Given the description of an element on the screen output the (x, y) to click on. 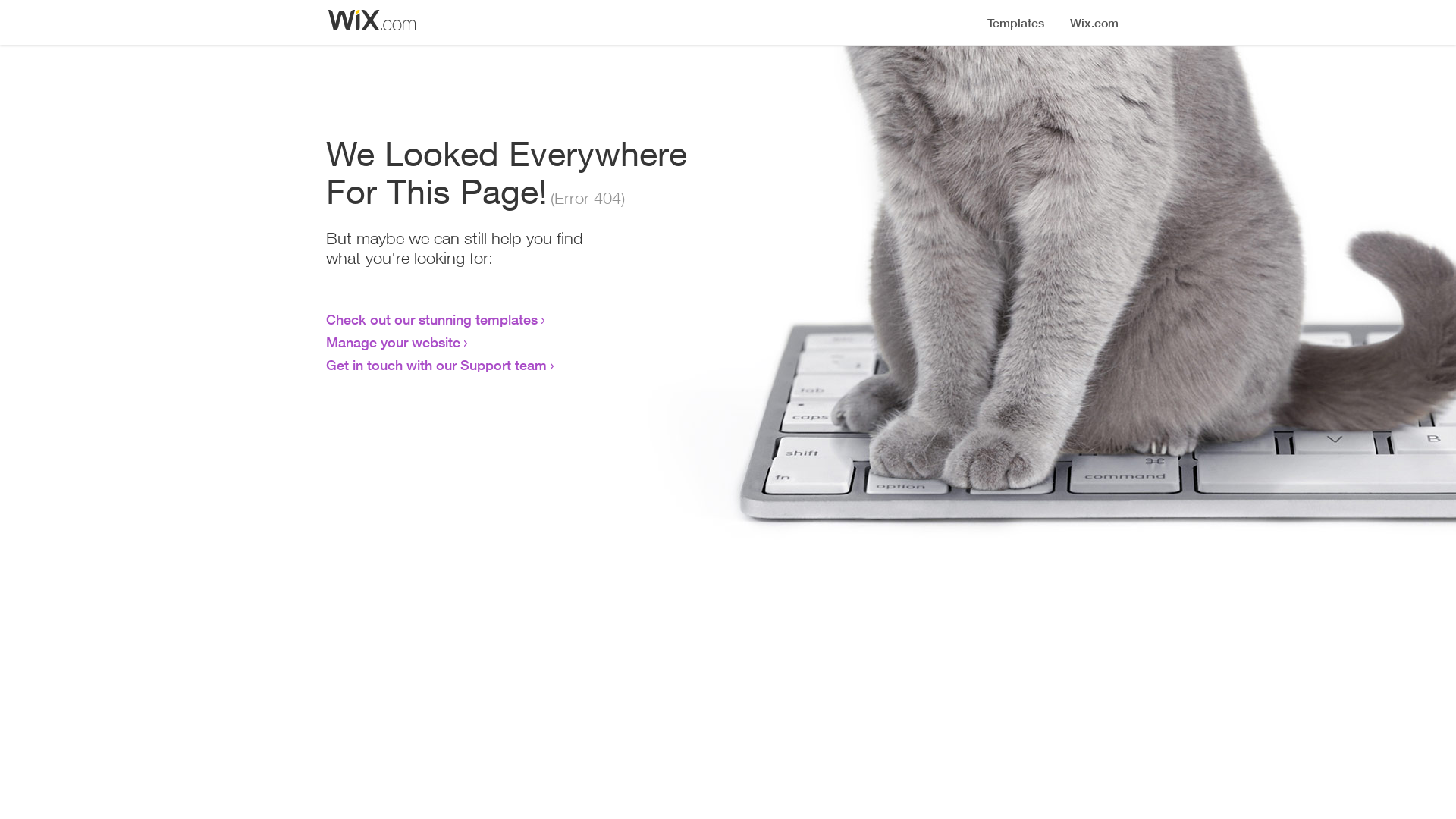
Check out our stunning templates Element type: text (431, 318)
Get in touch with our Support team Element type: text (436, 364)
Manage your website Element type: text (393, 341)
